Given the description of an element on the screen output the (x, y) to click on. 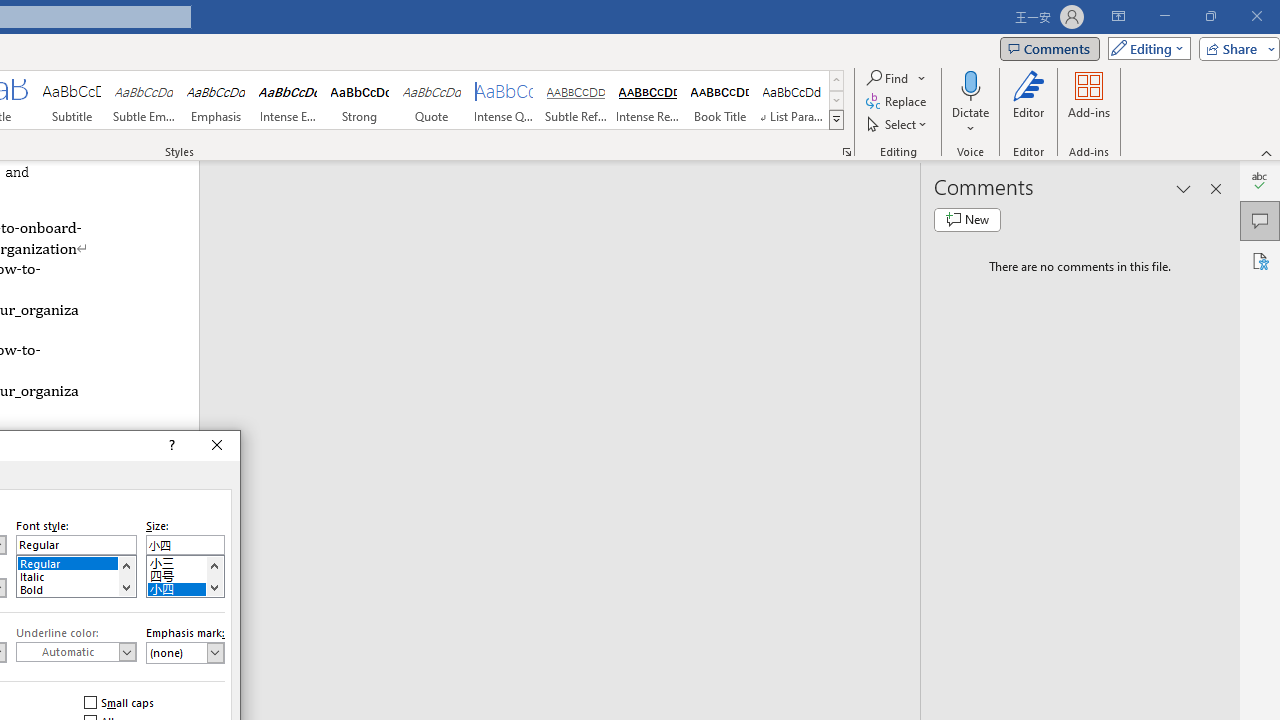
Emphasis mark: (185, 652)
More Options (970, 121)
New comment (967, 219)
RichEdit Control (185, 544)
Dictate (970, 102)
Line up (214, 565)
Context help (170, 445)
Subtitle (71, 100)
Collapse the Ribbon (1267, 152)
Restore Down (1210, 16)
Subtle Reference (575, 100)
Underline Color (Automatic) (75, 651)
